Given the description of an element on the screen output the (x, y) to click on. 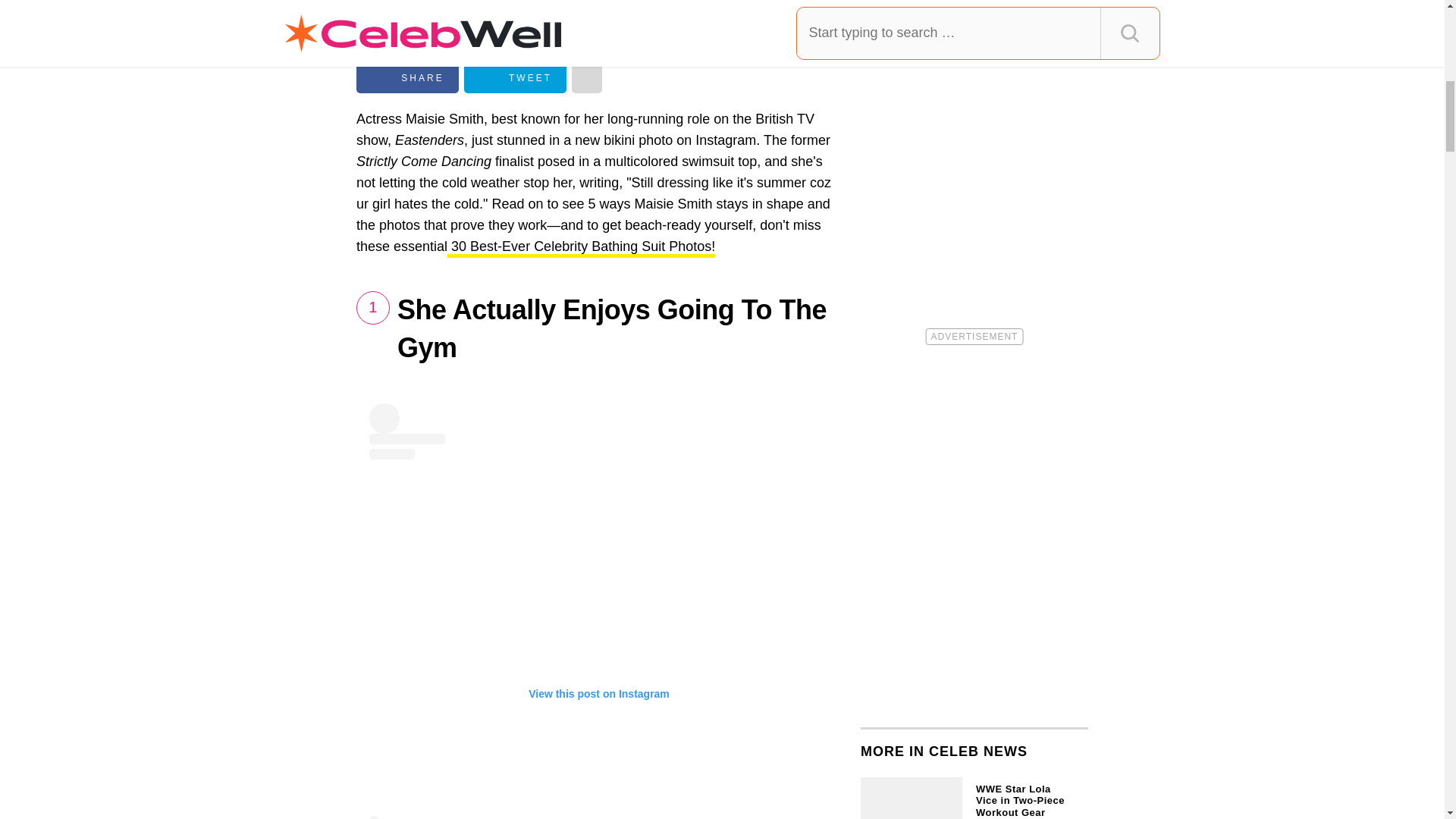
Share via e-mail (587, 78)
30 Best-Ever Celebrity Bathing Suit Photos! (580, 248)
Facebook (407, 78)
Share on Twitter (515, 78)
Share on Facebook (407, 78)
Twitter (515, 78)
